Given the description of an element on the screen output the (x, y) to click on. 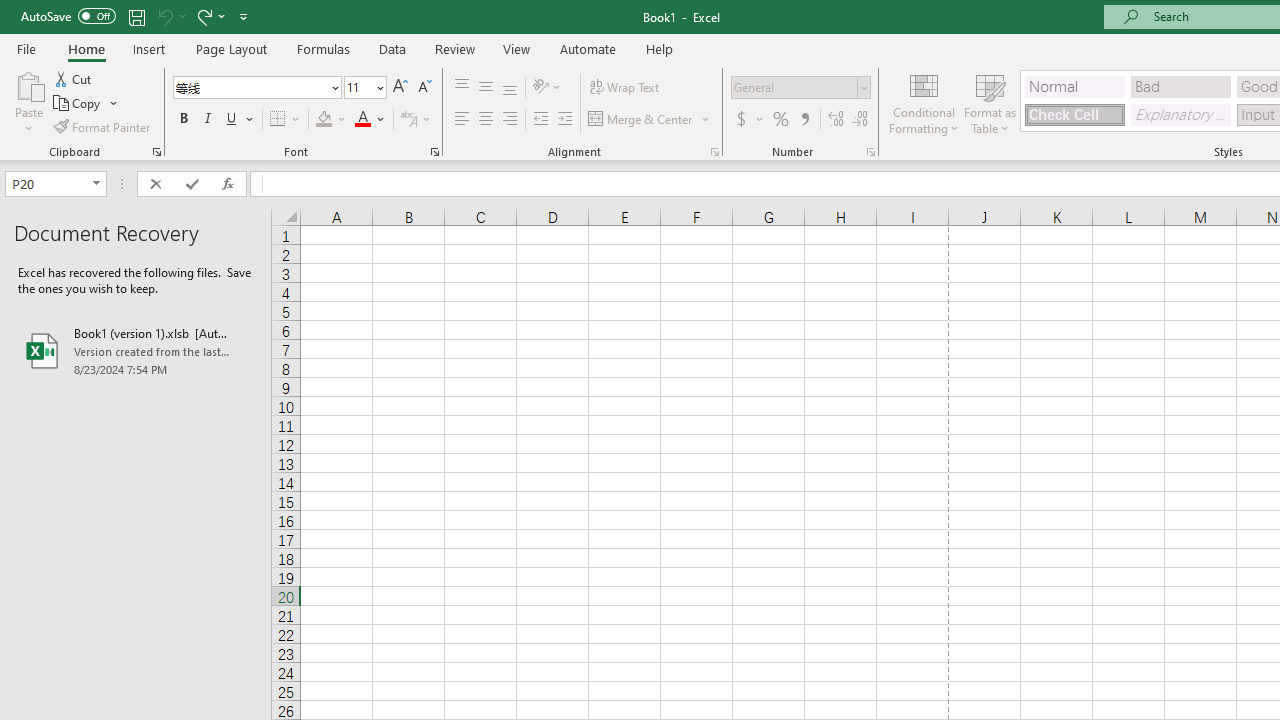
Font (250, 87)
Office Clipboard... (156, 151)
Normal (1074, 86)
Align Right (509, 119)
Comma Style (804, 119)
Increase Indent (565, 119)
Home (86, 48)
Format Cell Number (870, 151)
Increase Font Size (399, 87)
Review (454, 48)
Redo (203, 15)
Decrease Font Size (424, 87)
Data (392, 48)
System (10, 11)
